Given the description of an element on the screen output the (x, y) to click on. 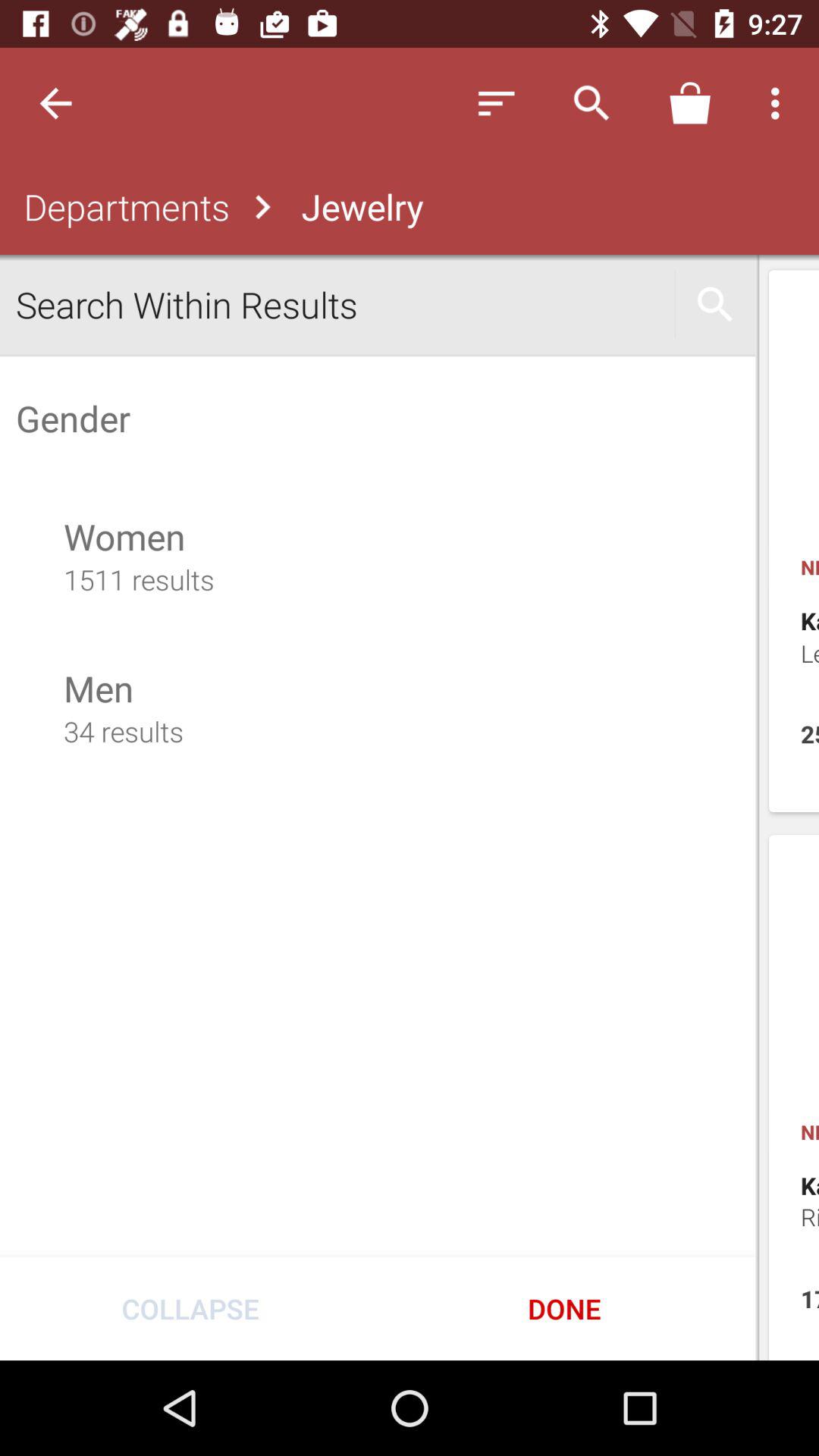
select the icon next to search icon (689, 102)
select the right side of search option (715, 303)
go to three dots on top right of page (779, 103)
